Given the description of an element on the screen output the (x, y) to click on. 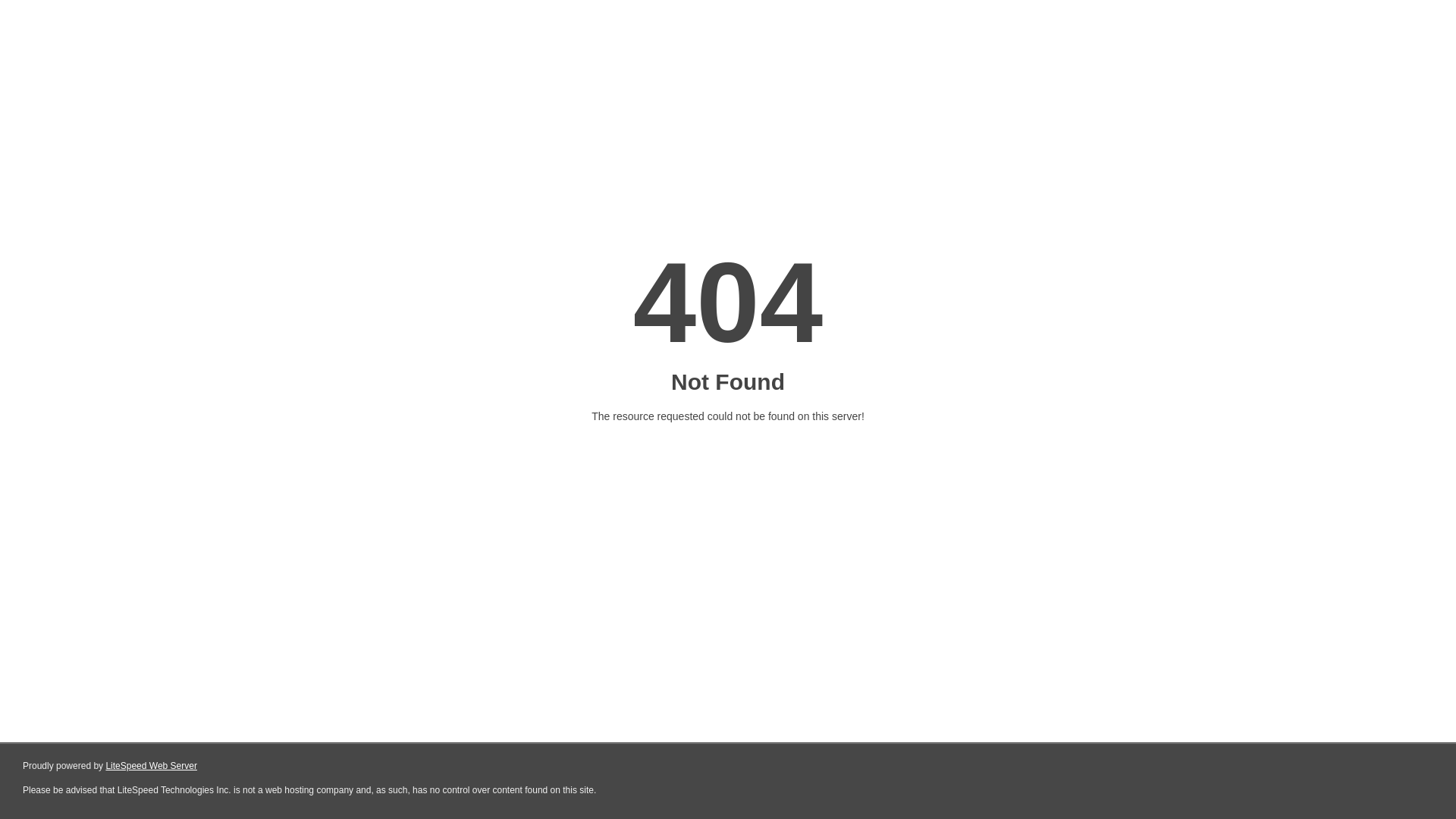
LiteSpeed Web Server Element type: text (151, 765)
